Given the description of an element on the screen output the (x, y) to click on. 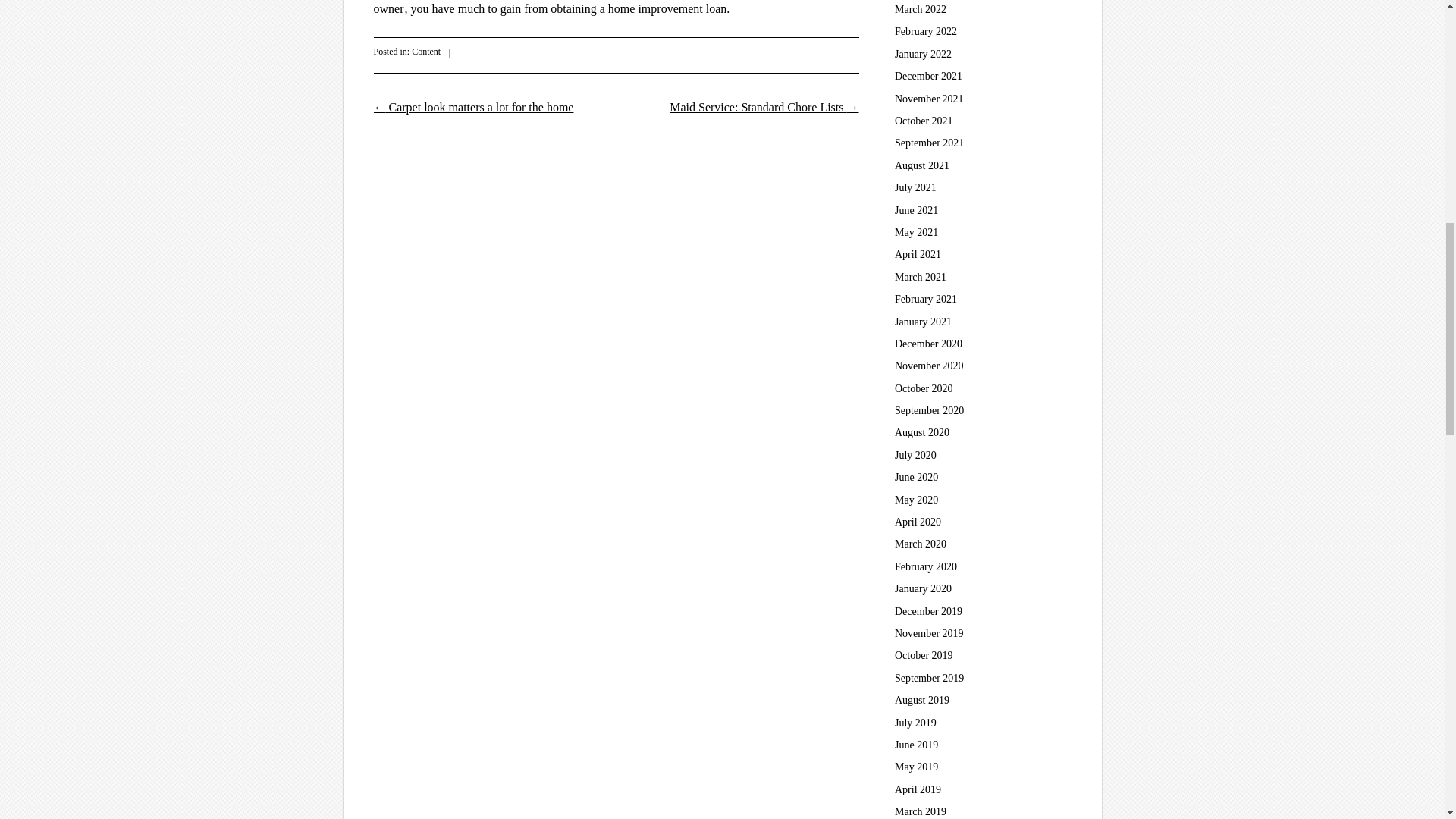
Content (426, 50)
